Given the description of an element on the screen output the (x, y) to click on. 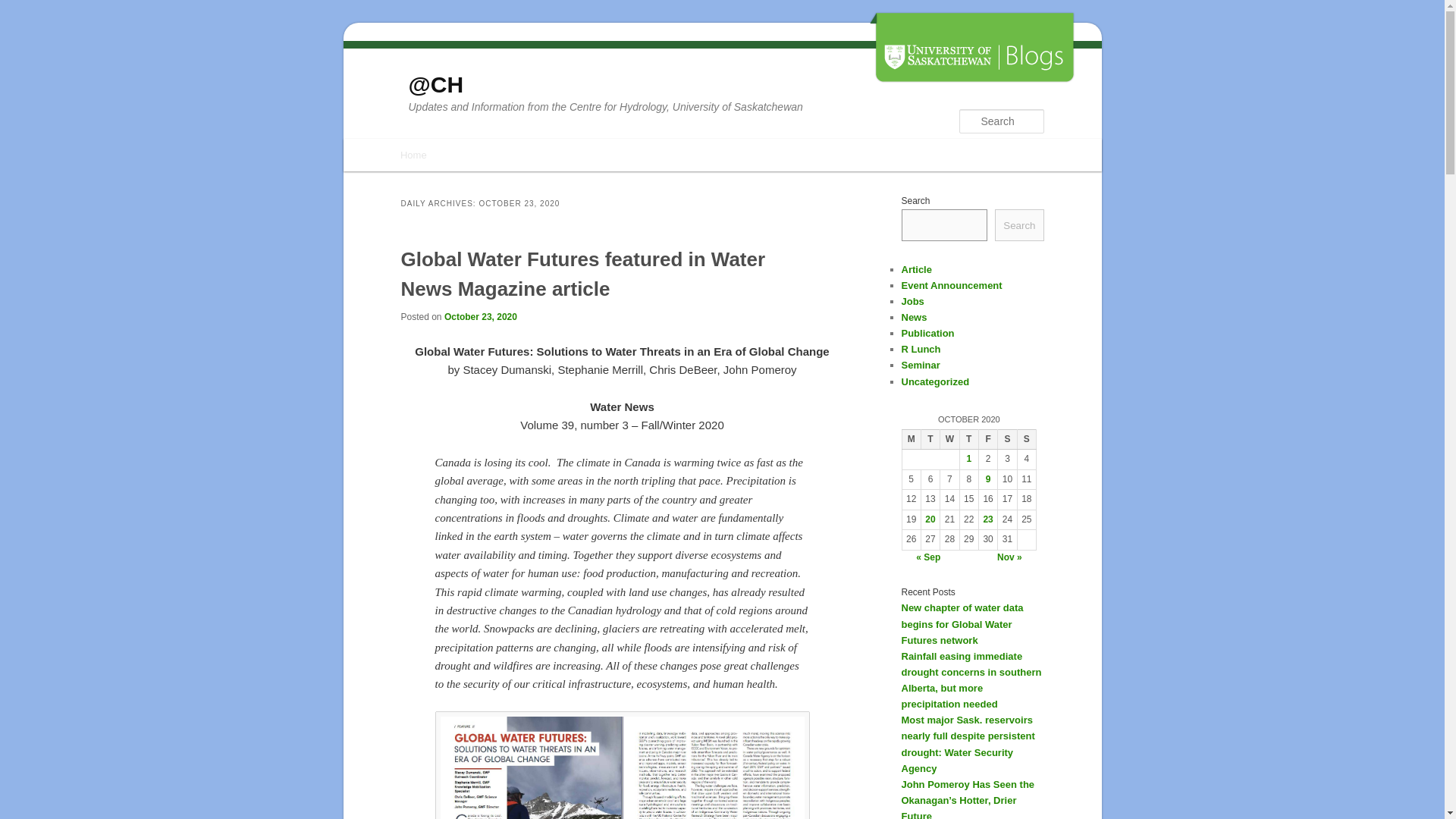
Article (916, 269)
Event Announcement (951, 285)
Publication (927, 333)
R Lunch (920, 348)
Search (1018, 224)
Thursday (968, 439)
Friday (987, 439)
Home (413, 154)
Wednesday (949, 439)
October 23, 2020 (480, 317)
Jobs (912, 301)
